Given the description of an element on the screen output the (x, y) to click on. 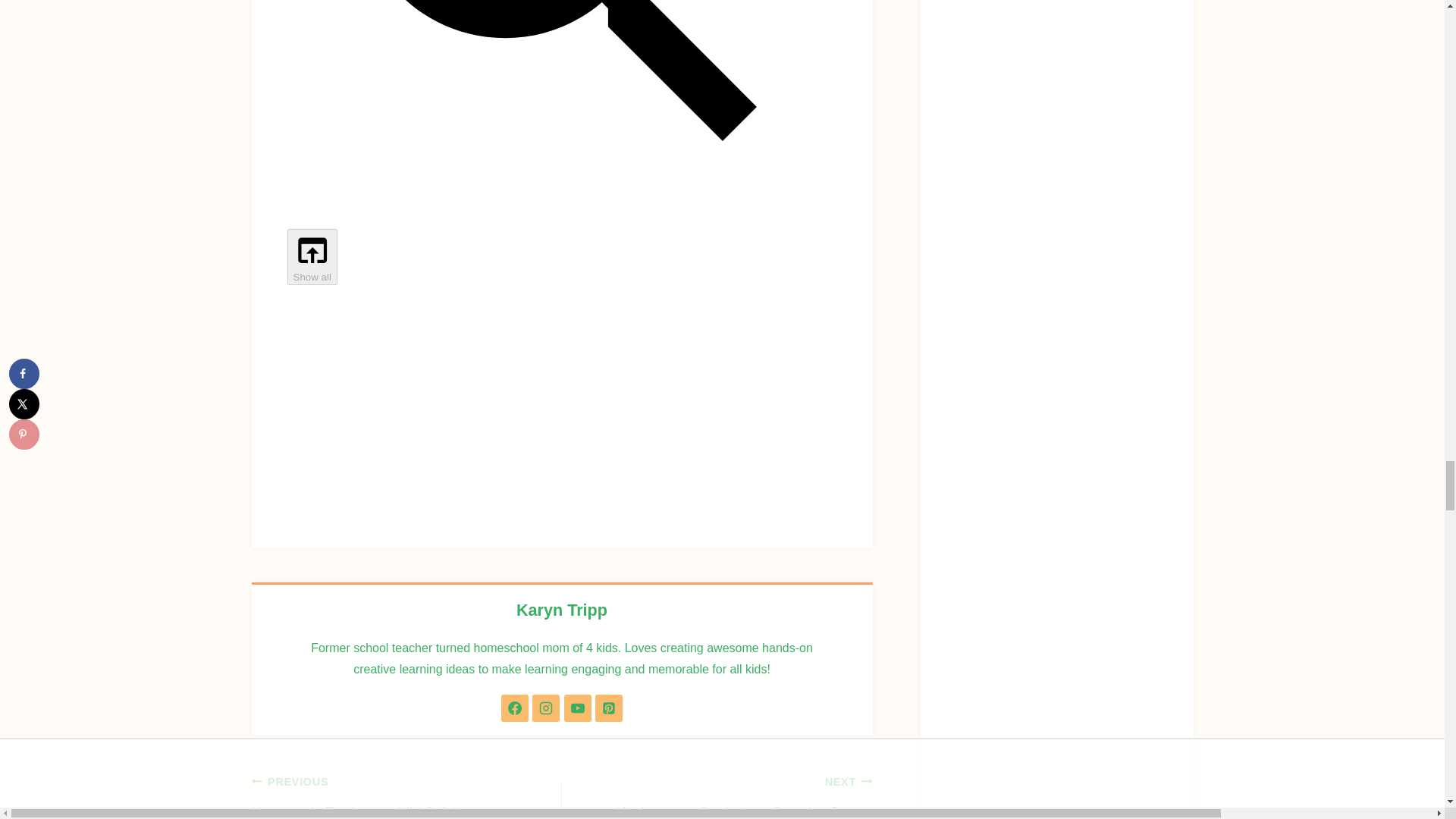
Follow Karyn Tripp on Pinterest (609, 707)
Follow Karyn Tripp on Facebook (514, 707)
Follow Karyn Tripp on Instagram (545, 707)
Follow Karyn Tripp on Youtube (577, 707)
Posts by Karyn Tripp (561, 609)
